Given the description of an element on the screen output the (x, y) to click on. 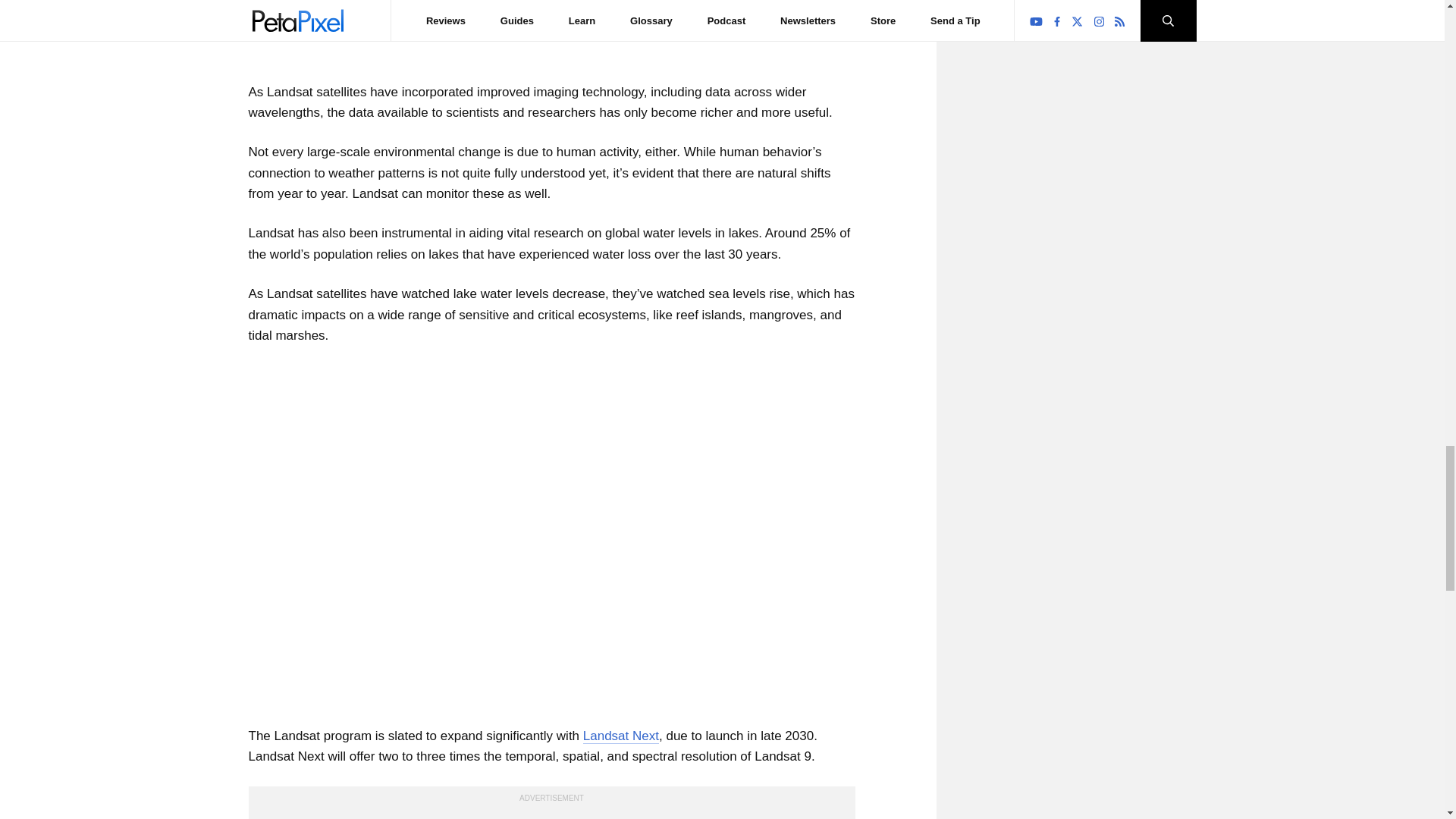
YouTube video player (552, 31)
Landsat Next (621, 735)
